Given the description of an element on the screen output the (x, y) to click on. 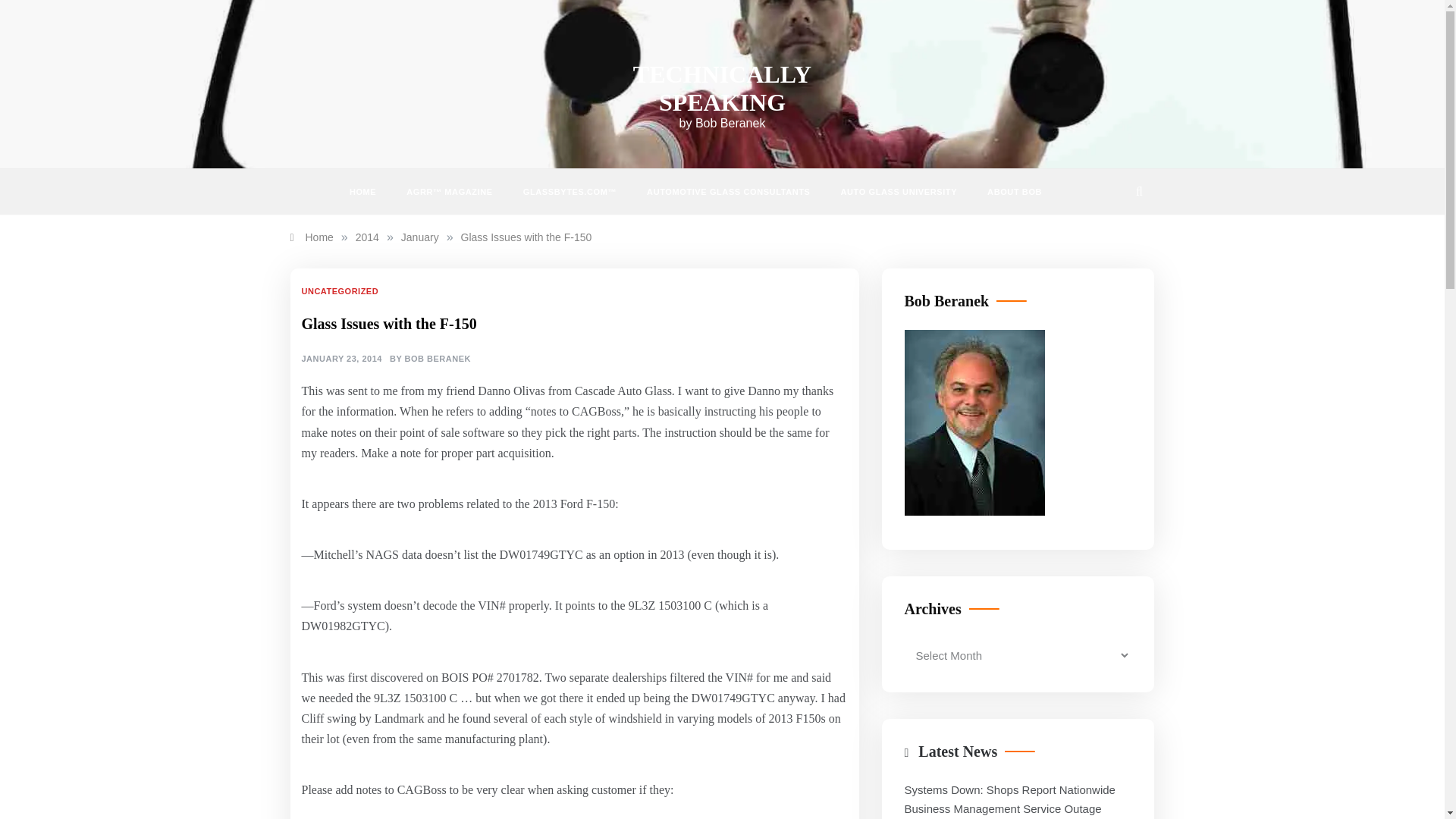
BOB BERANEK (437, 358)
2014 (366, 236)
AUTO GLASS UNIVERSITY (898, 191)
ABOUT BOB (1007, 191)
Home (311, 236)
Glass Issues with the F-150 (526, 236)
HOME (370, 191)
TECHNICALLY SPEAKING (721, 88)
AUTOMOTIVE GLASS CONSULTANTS (728, 191)
Latest News (957, 751)
January (420, 236)
JANUARY 23, 2014 (341, 358)
UNCATEGORIZED (341, 290)
